Given the description of an element on the screen output the (x, y) to click on. 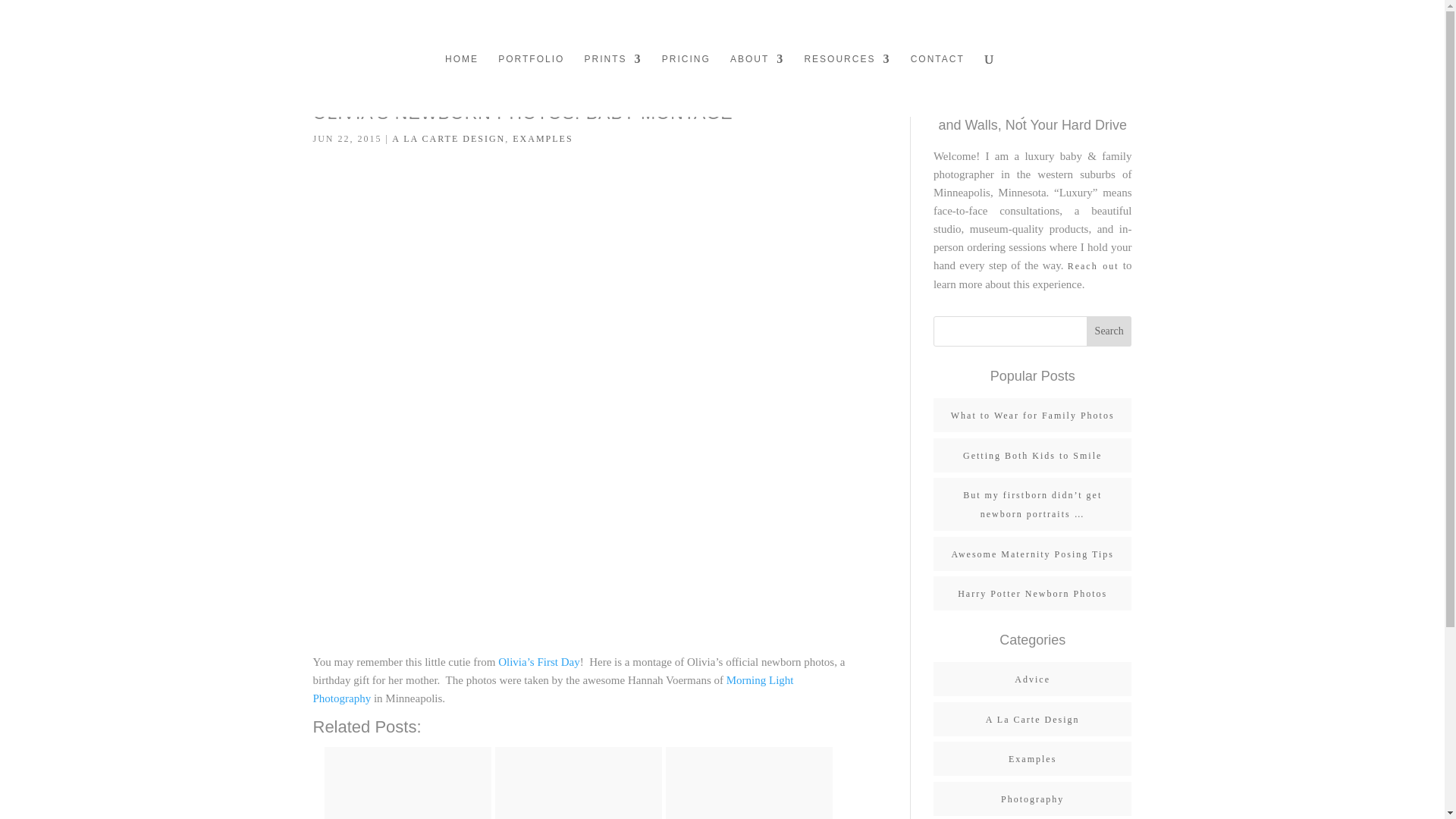
PORTFOLIO (530, 85)
Getting Both Kids to Smile (1032, 455)
Awesome Maternity Posing Tips (1031, 553)
Search (1109, 331)
What to Wear for Family Photos (1032, 415)
7 Tips for Amazing Weekly Baby Bump Photos (404, 790)
A La Carte Design (1032, 719)
PRINTS (613, 85)
7 Tips for Amazing Weekly Baby Bump Photos (408, 782)
